Given the description of an element on the screen output the (x, y) to click on. 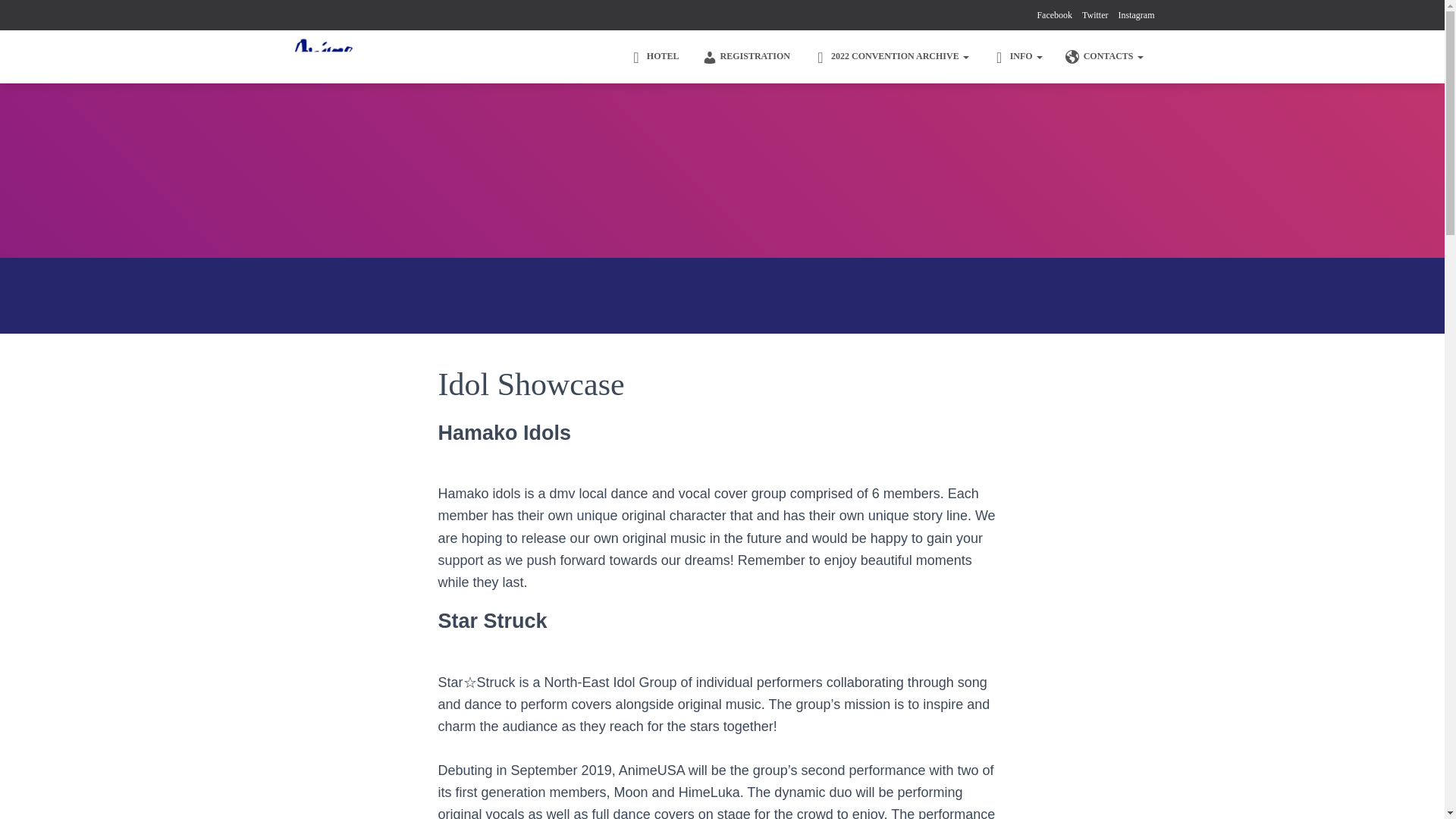
Hotel (653, 56)
2022 CONVENTION ARCHIVE (890, 56)
INFO (1016, 56)
REGISTRATION (746, 56)
2022 Convention Archive (890, 56)
Twitter (1094, 14)
Facebook (1053, 14)
Registration (746, 56)
Anime USA (322, 56)
Instagram (1136, 14)
HOTEL (653, 56)
CONTACTS (1104, 56)
